Given the description of an element on the screen output the (x, y) to click on. 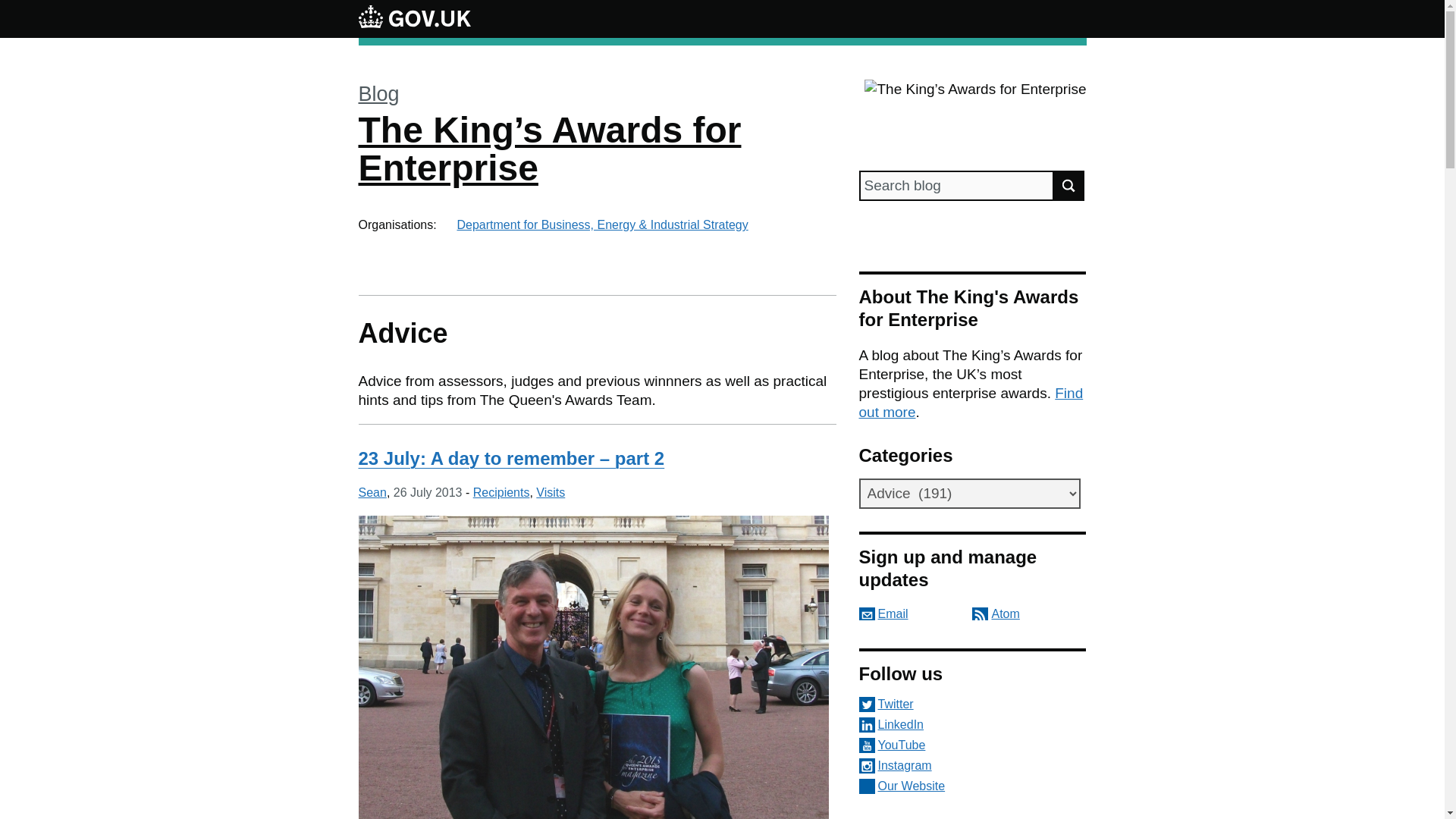
Blog (378, 93)
Sean (371, 492)
Search (1069, 185)
Search (1069, 185)
GOV.UK (414, 18)
Visits (549, 492)
Skip to main content (11, 7)
GOV.UK (414, 15)
Recipients (501, 492)
Posts by Sean (371, 492)
Go to the GOV.UK homepage (414, 18)
